Given the description of an element on the screen output the (x, y) to click on. 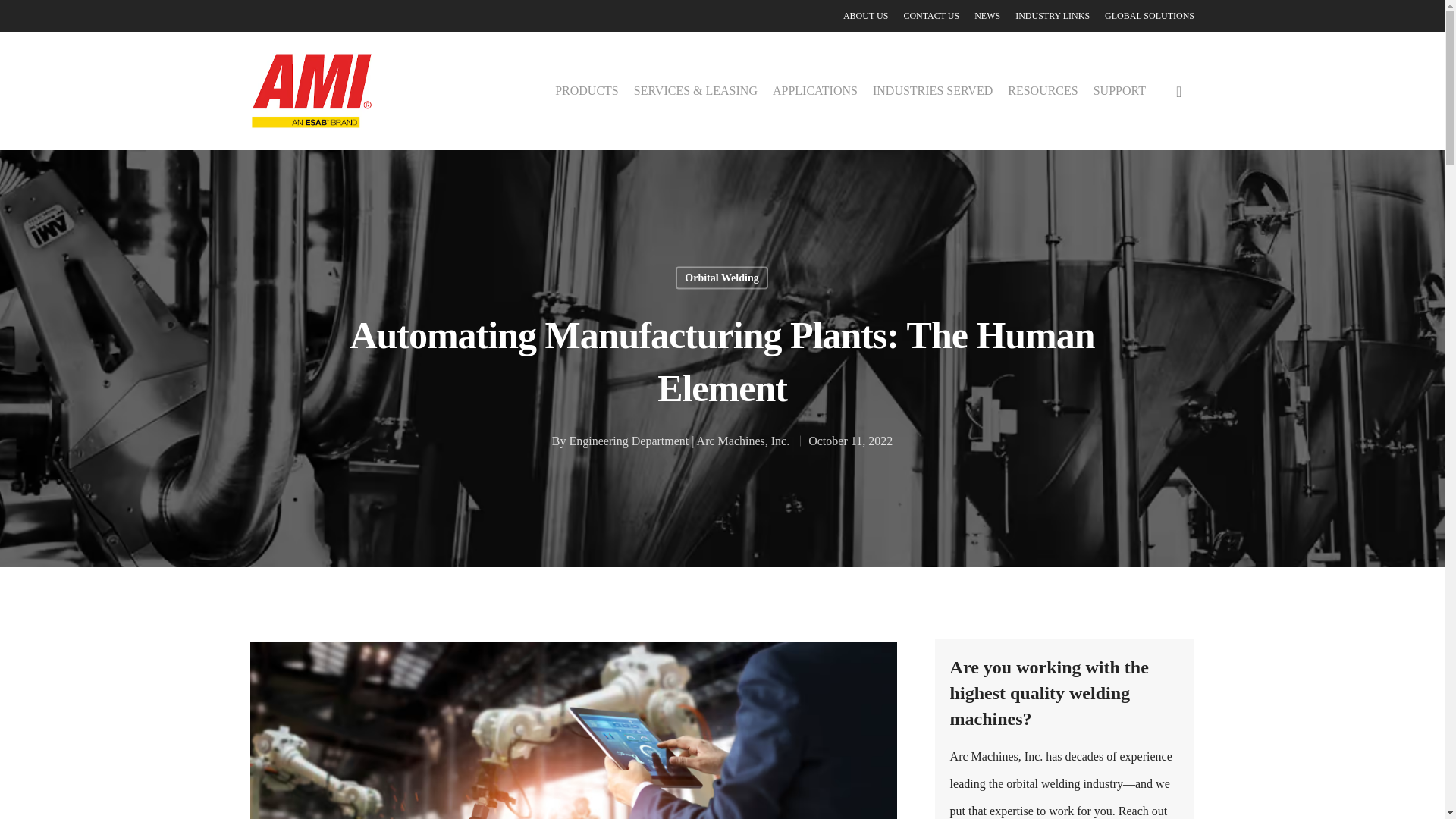
NEWS (987, 15)
PRODUCTS (586, 91)
INDUSTRY LINKS (1051, 15)
ABOUT US (865, 15)
GLOBAL SOLUTIONS (1149, 15)
CONTACT US (930, 15)
APPLICATIONS (815, 91)
